Given the description of an element on the screen output the (x, y) to click on. 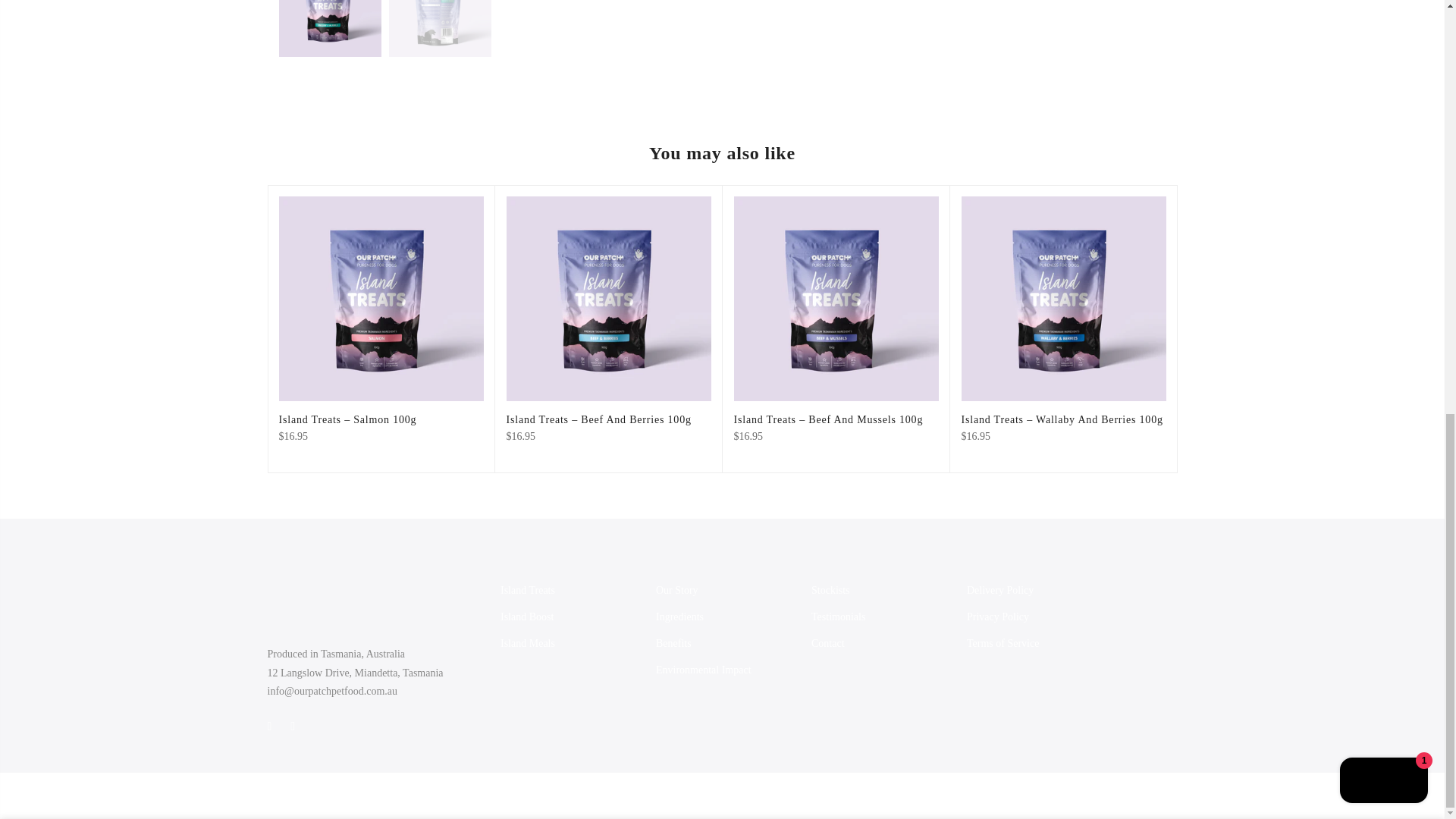
1 (976, 14)
